Given the description of an element on the screen output the (x, y) to click on. 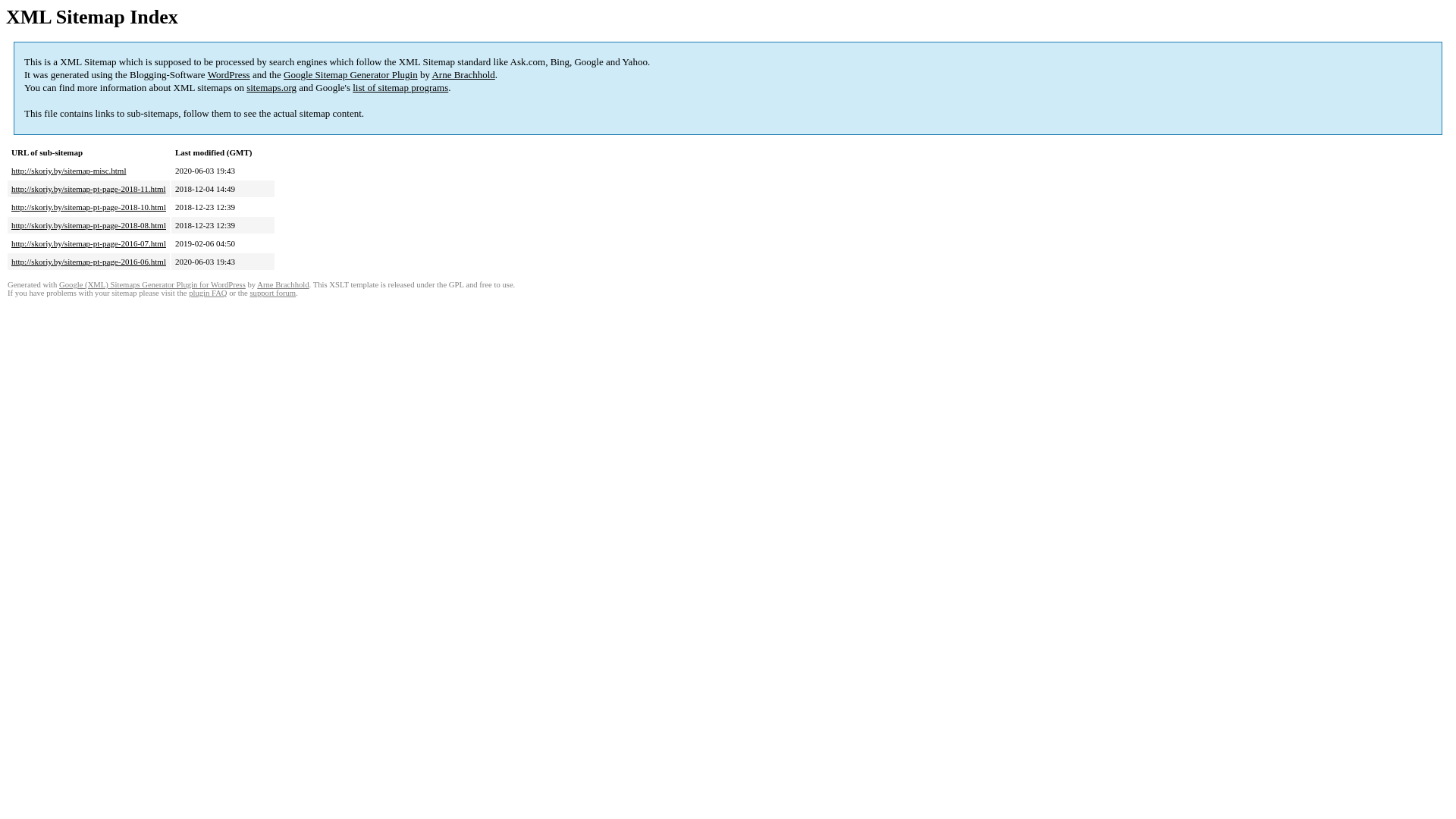
Arne Brachhold Element type: text (282, 284)
http://skoriy.by/sitemap-pt-page-2018-08.html Element type: text (88, 224)
http://skoriy.by/sitemap-misc.html Element type: text (68, 170)
WordPress Element type: text (228, 74)
sitemaps.org Element type: text (271, 87)
http://skoriy.by/sitemap-pt-page-2016-06.html Element type: text (88, 261)
list of sitemap programs Element type: text (400, 87)
support forum Element type: text (272, 292)
http://skoriy.by/sitemap-pt-page-2018-10.html Element type: text (88, 206)
plugin FAQ Element type: text (207, 292)
Arne Brachhold Element type: text (462, 74)
http://skoriy.by/sitemap-pt-page-2016-07.html Element type: text (88, 242)
Google (XML) Sitemaps Generator Plugin for WordPress Element type: text (152, 284)
http://skoriy.by/sitemap-pt-page-2018-11.html Element type: text (88, 188)
Google Sitemap Generator Plugin Element type: text (350, 74)
